Given the description of an element on the screen output the (x, y) to click on. 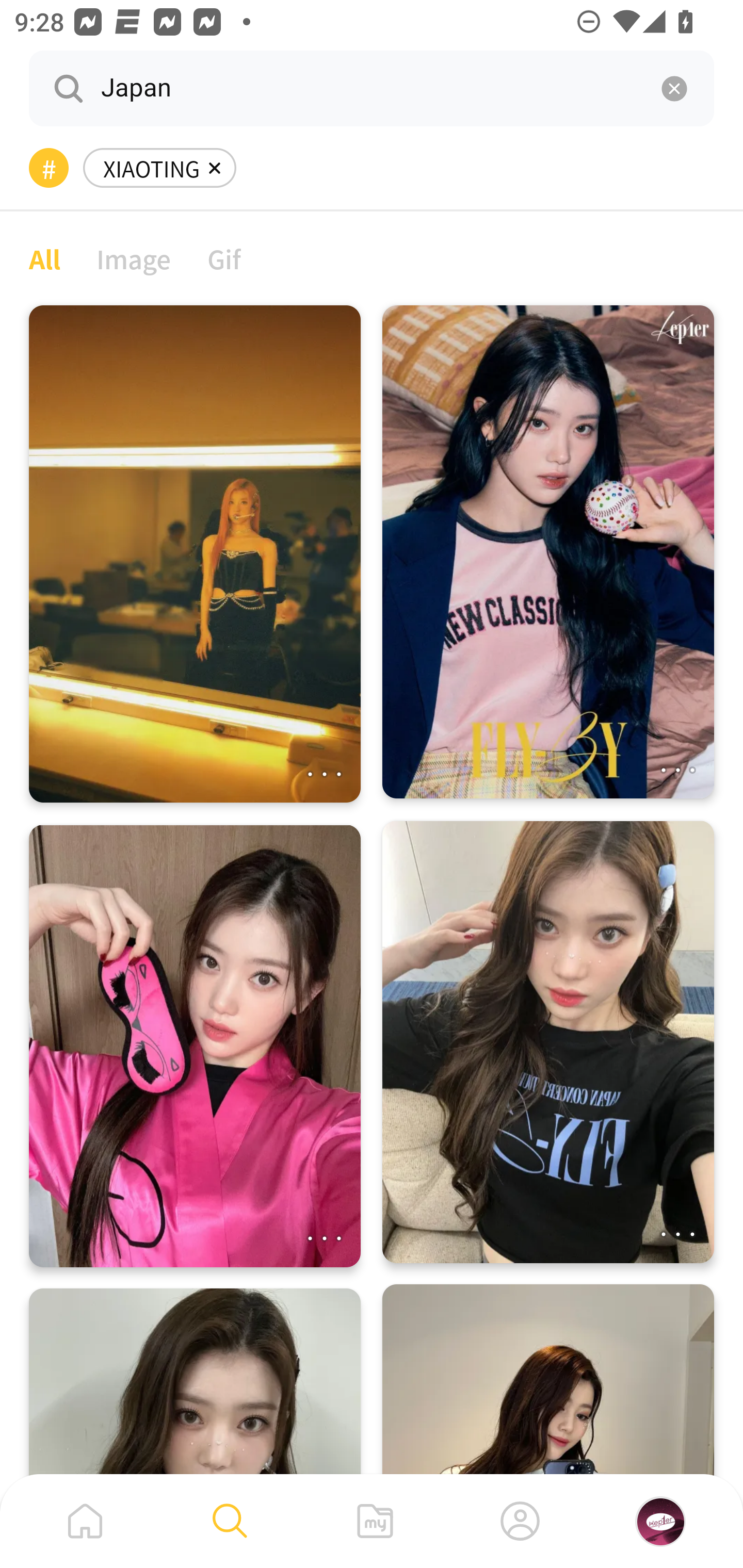
All (44, 257)
Image (133, 257)
Gif (223, 257)
